Given the description of an element on the screen output the (x, y) to click on. 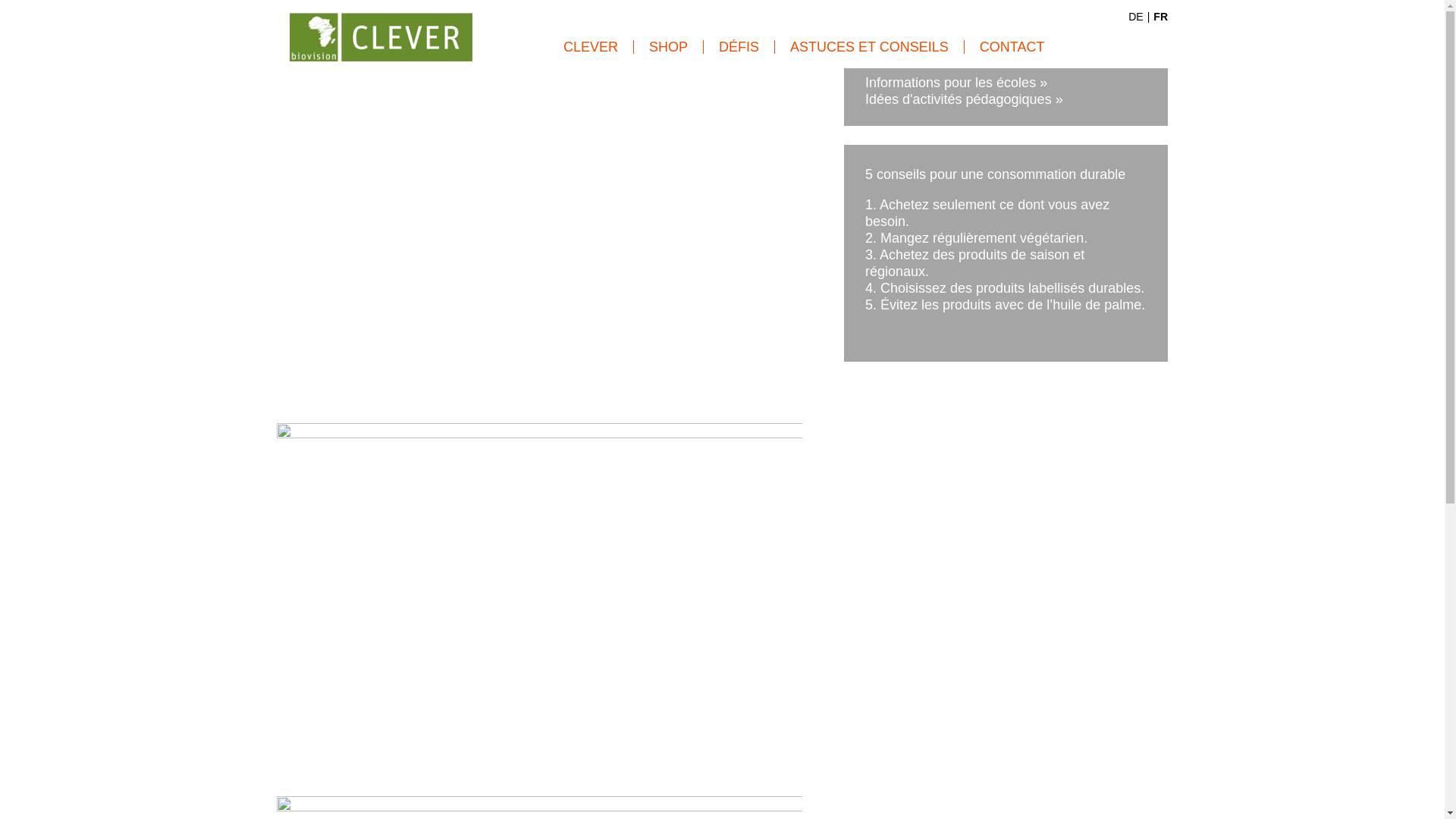
Home Element type: hover (380, 35)
FR Element type: text (1160, 16)
DE Element type: text (1135, 16)
ASTUCES ET CONSEILS Element type: text (869, 46)
CONTACT Element type: text (1004, 46)
CLEVER Element type: text (590, 46)
SHOP Element type: text (668, 46)
Clever Element type: text (289, 26)
